Given the description of an element on the screen output the (x, y) to click on. 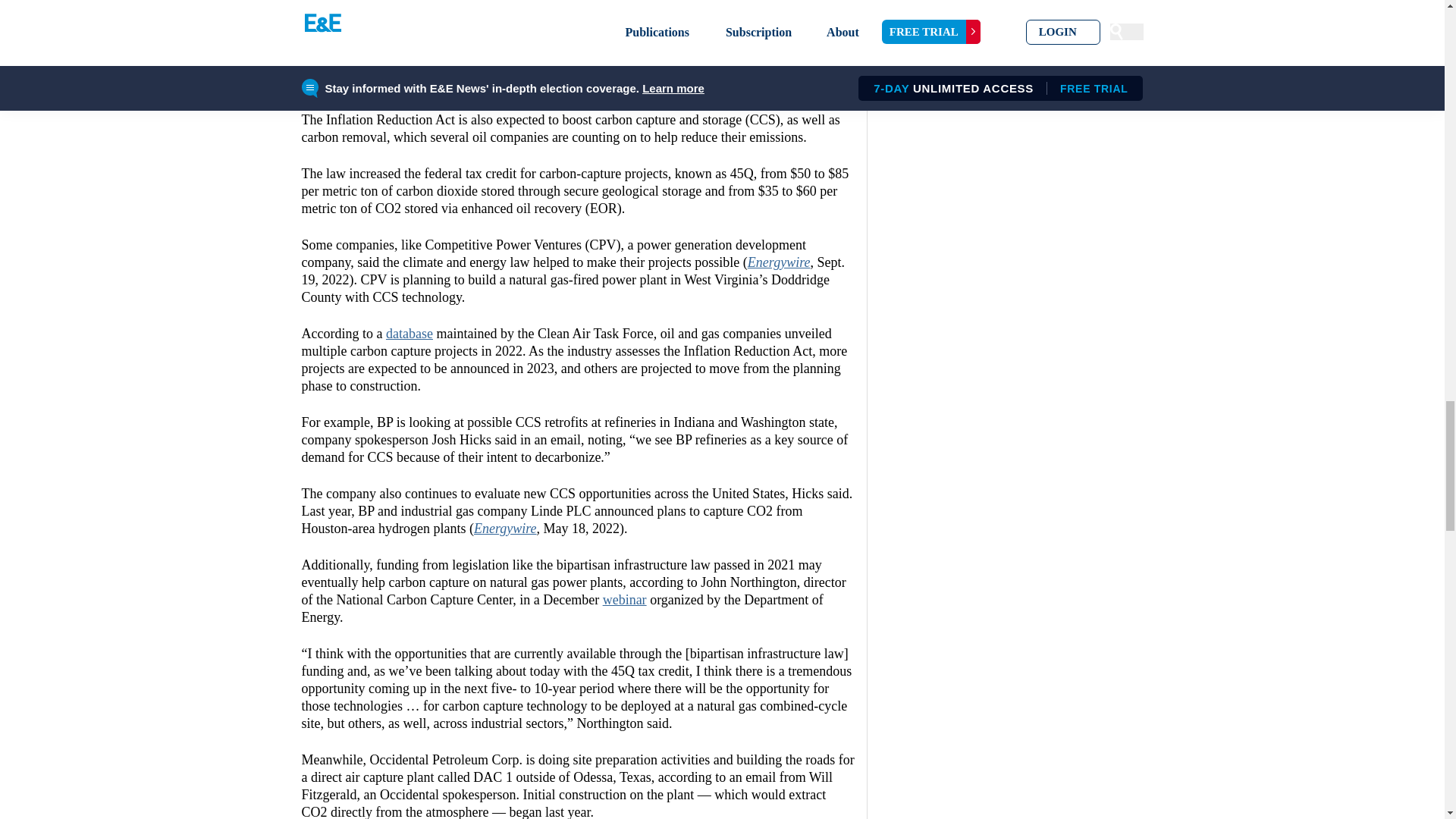
Energywire (779, 262)
webinar (624, 599)
database (408, 333)
Energywire (505, 528)
